Given the description of an element on the screen output the (x, y) to click on. 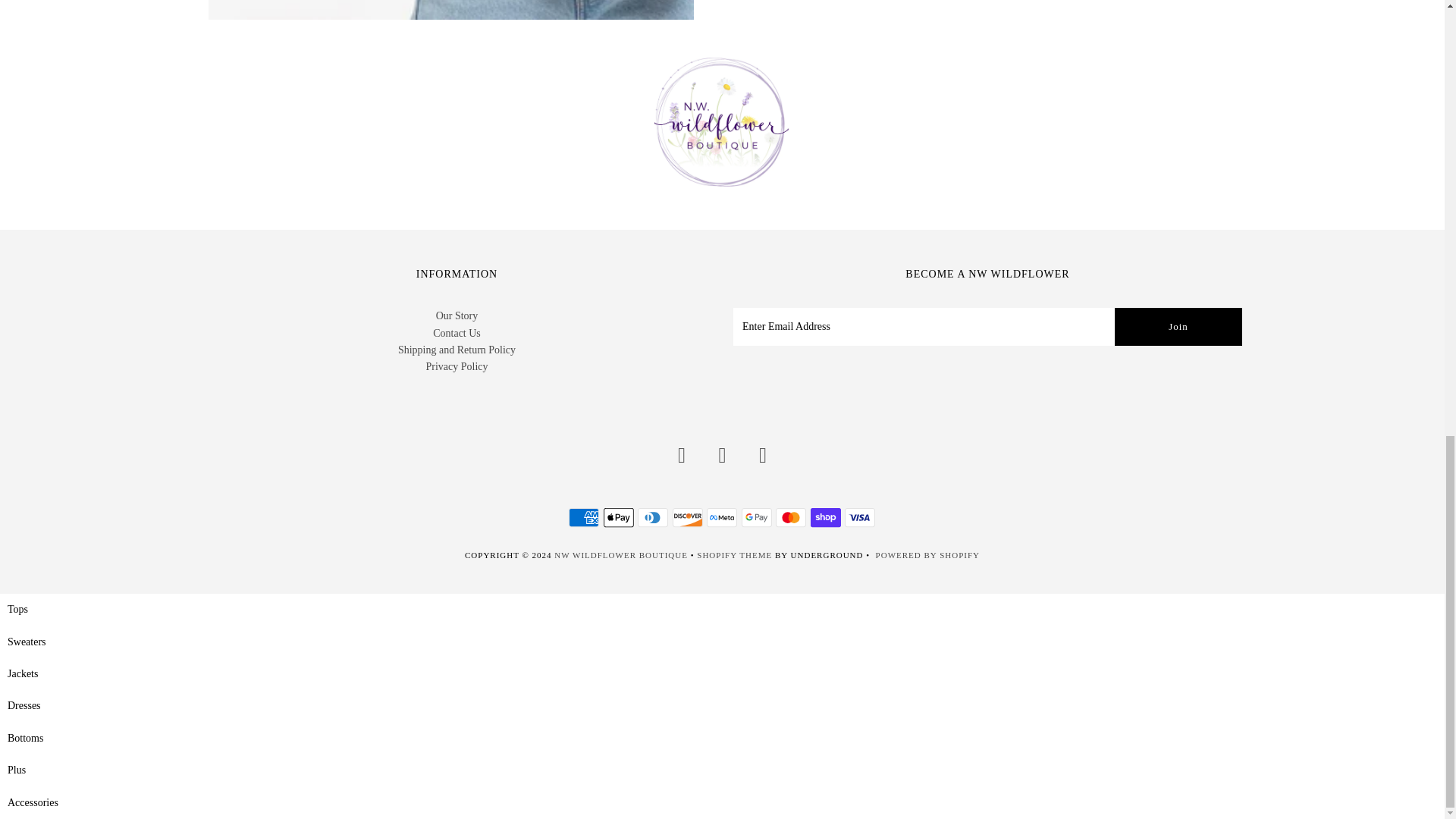
Shopify theme (734, 554)
Tops (17, 609)
Discover (687, 517)
Contact Us (456, 333)
Shipping and Return Policy (456, 349)
NW WILDFLOWER BOUTIQUE (620, 554)
Sweaters (26, 641)
Join (1178, 326)
Visa (859, 517)
Apple Pay (618, 517)
Mastercard (791, 517)
SHOPIFY THEME (734, 554)
Jackets (22, 673)
Join (1178, 326)
Our Story (457, 315)
